Given the description of an element on the screen output the (x, y) to click on. 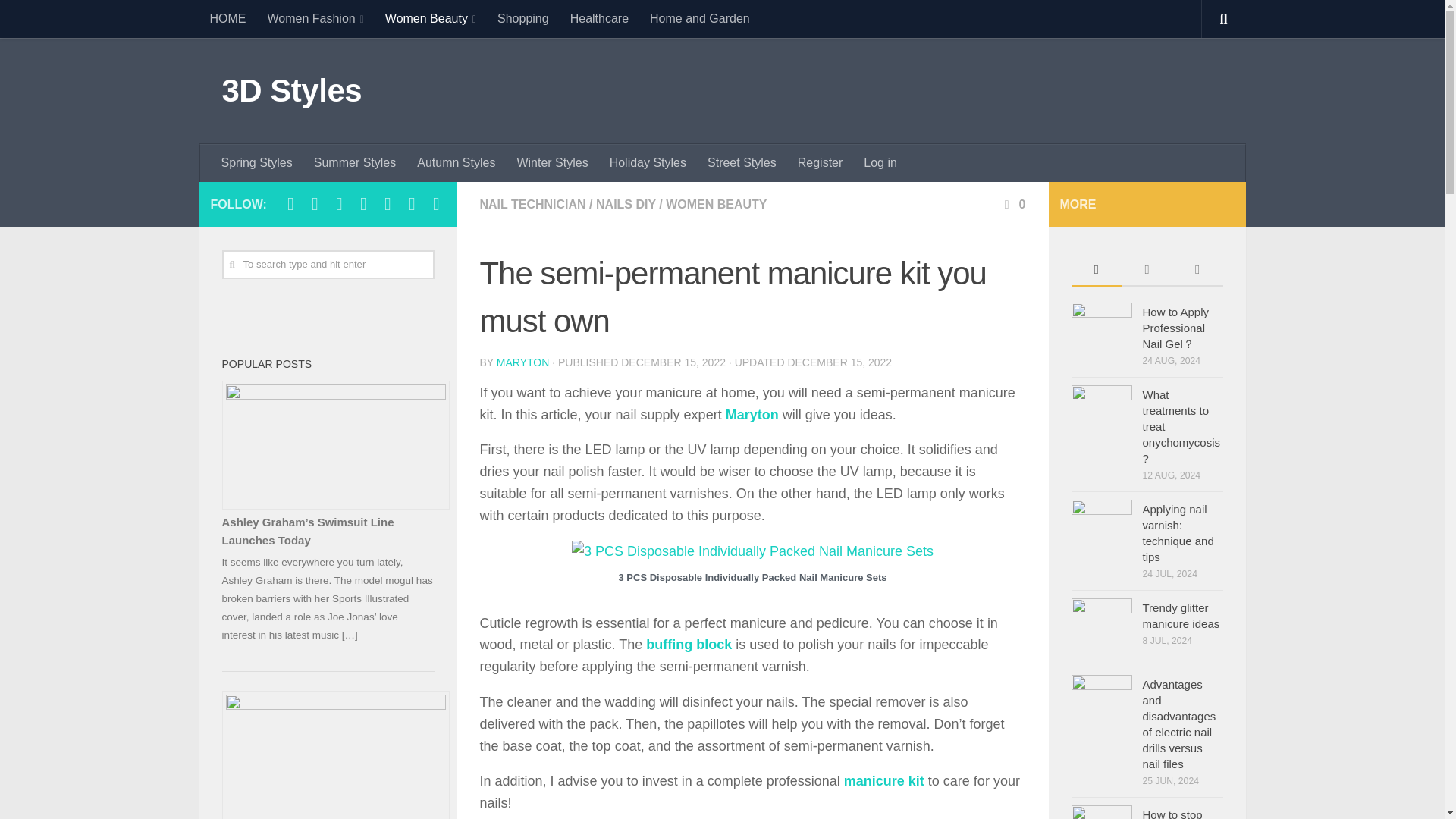
HOME (227, 18)
Register (820, 162)
Women Fashion (315, 18)
Winter Styles (551, 162)
Maryton (751, 414)
Healthcare (599, 18)
Autumn Styles (455, 162)
Home and Garden (699, 18)
3D Styles (291, 90)
Log in (880, 162)
